Given the description of an element on the screen output the (x, y) to click on. 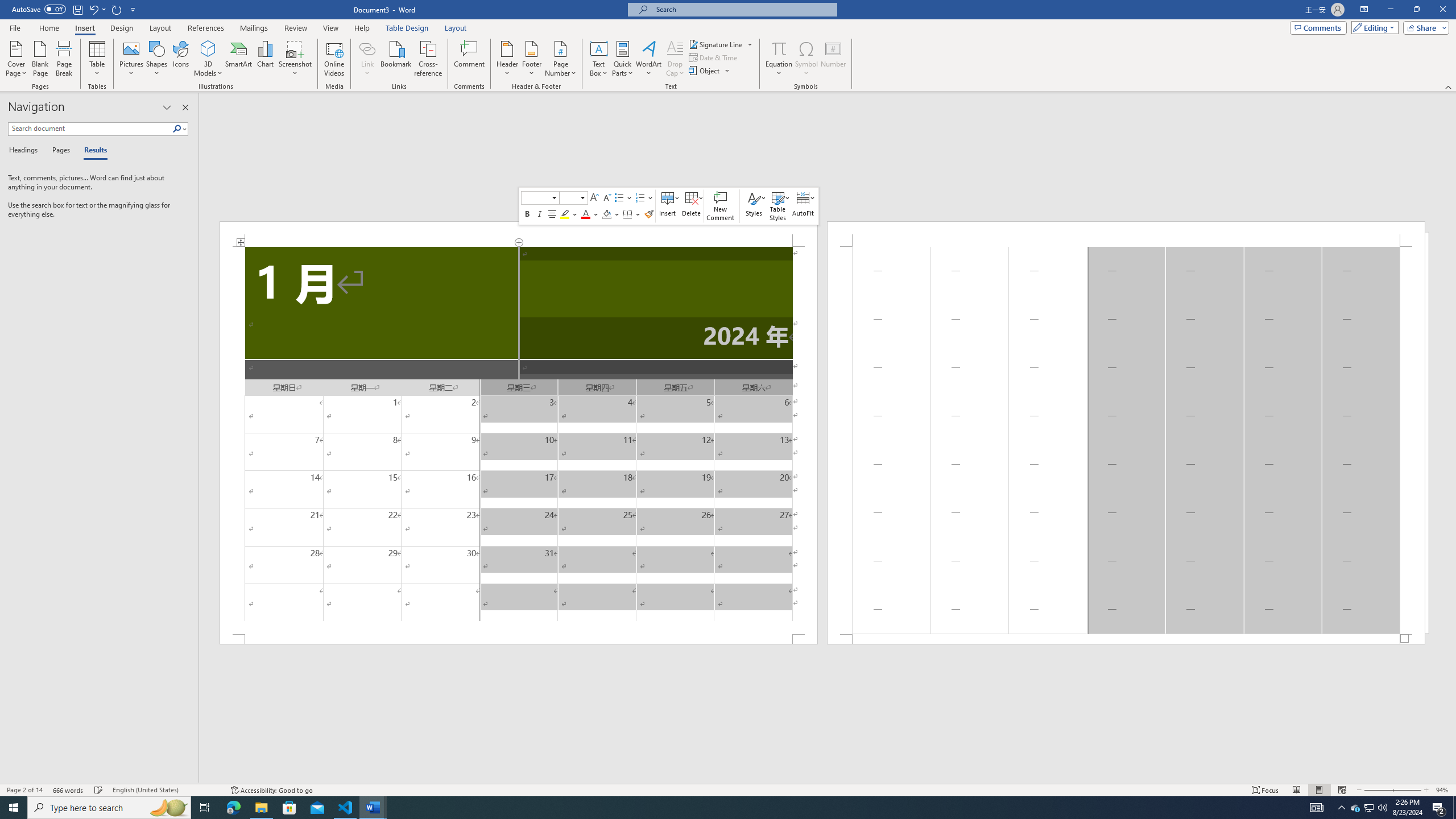
Symbol (806, 58)
Bold (526, 214)
3D Models (208, 58)
Center (552, 214)
Mode (1372, 27)
Page Number (560, 58)
Accessibility Checker Accessibility: Good to go (271, 790)
Spelling and Grammar Check Checking (98, 790)
Results (91, 150)
